Given the description of an element on the screen output the (x, y) to click on. 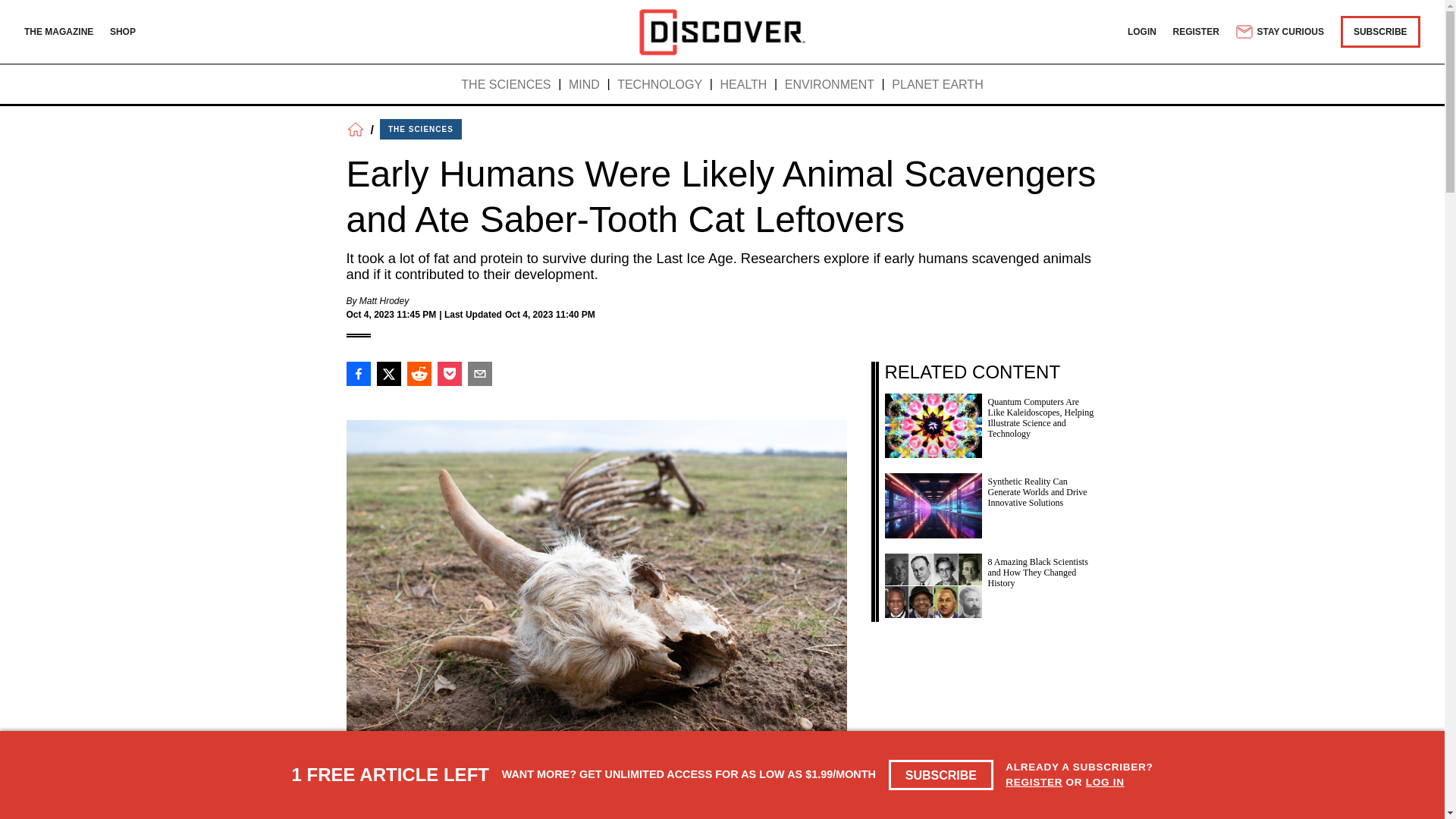
ENVIRONMENT (829, 84)
SHOP (122, 31)
LOG IN (1105, 781)
REGISTER (1034, 781)
SUBSCRIBE (1380, 31)
STAY CURIOUS (1278, 31)
HEALTH (743, 84)
PLANET EARTH (936, 84)
SUBSCRIBE (941, 775)
THE SCIENCES (505, 84)
THE SCIENCES (420, 128)
REGISTER (1196, 31)
LOGIN (1141, 31)
